Given the description of an element on the screen output the (x, y) to click on. 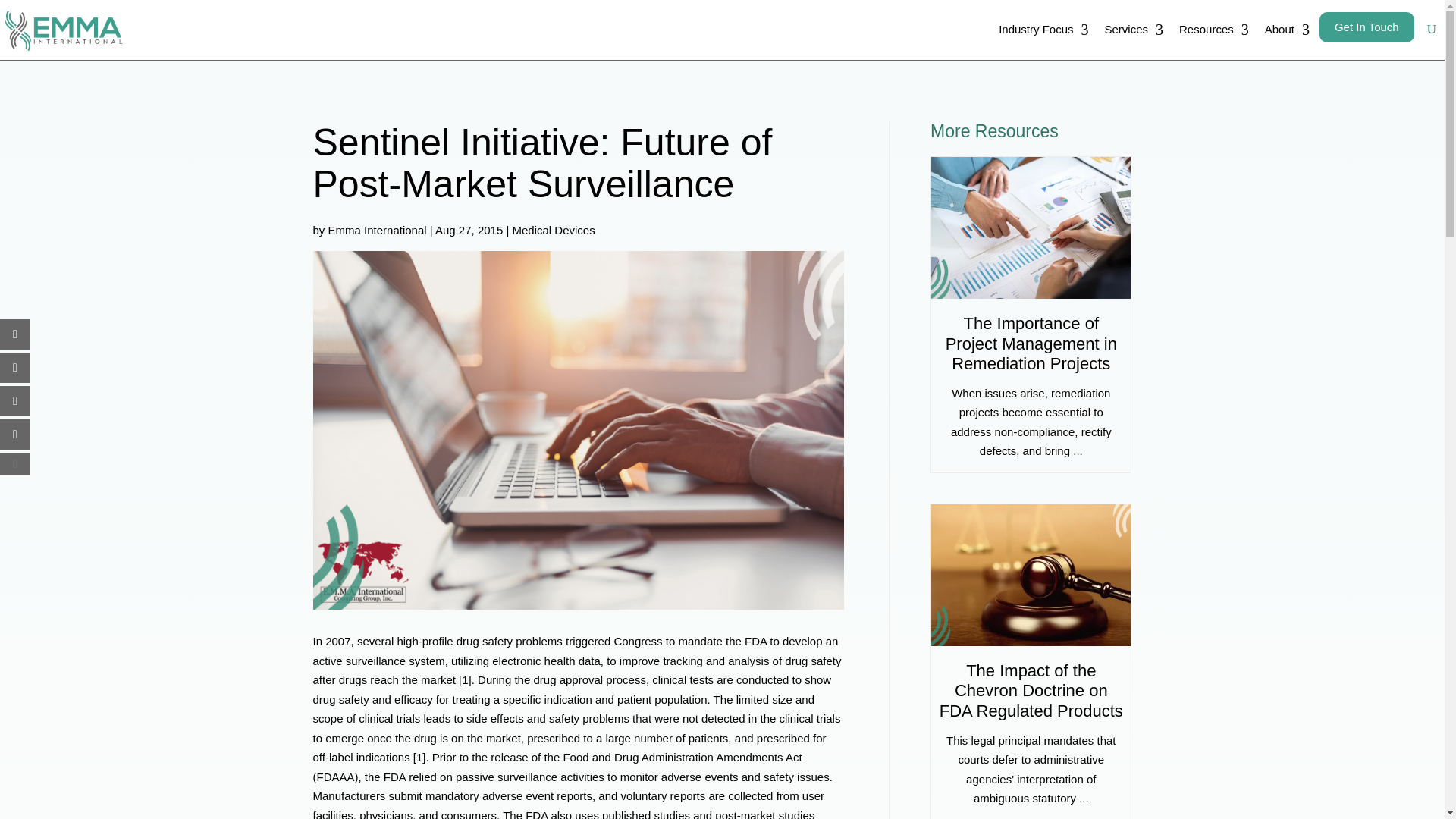
Resources (1211, 29)
Posts by Emma International (377, 229)
Industry Focus (1039, 29)
Get In Touch (1366, 27)
Emma International (377, 229)
Services (1130, 29)
The Impact of the Chevron Doctrine on FDA Regulated Products (1030, 690)
Medical Devices (553, 229)
The Importance of Project Management in Remediation Projects (1030, 343)
